Given the description of an element on the screen output the (x, y) to click on. 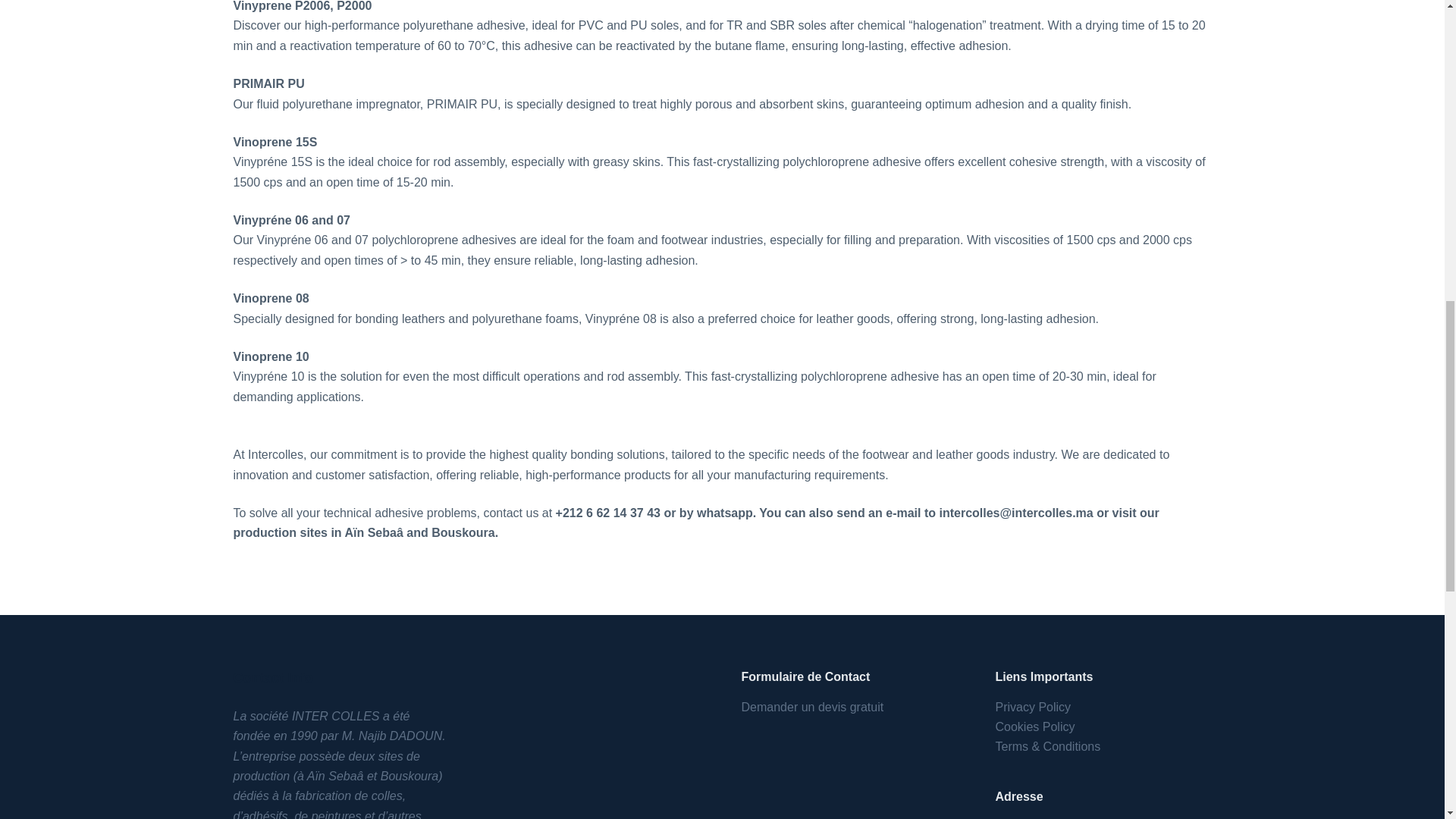
Demander un devis gratuit  (813, 707)
Cookies Policy (1034, 726)
Privacy Policy (1032, 707)
